Given the description of an element on the screen output the (x, y) to click on. 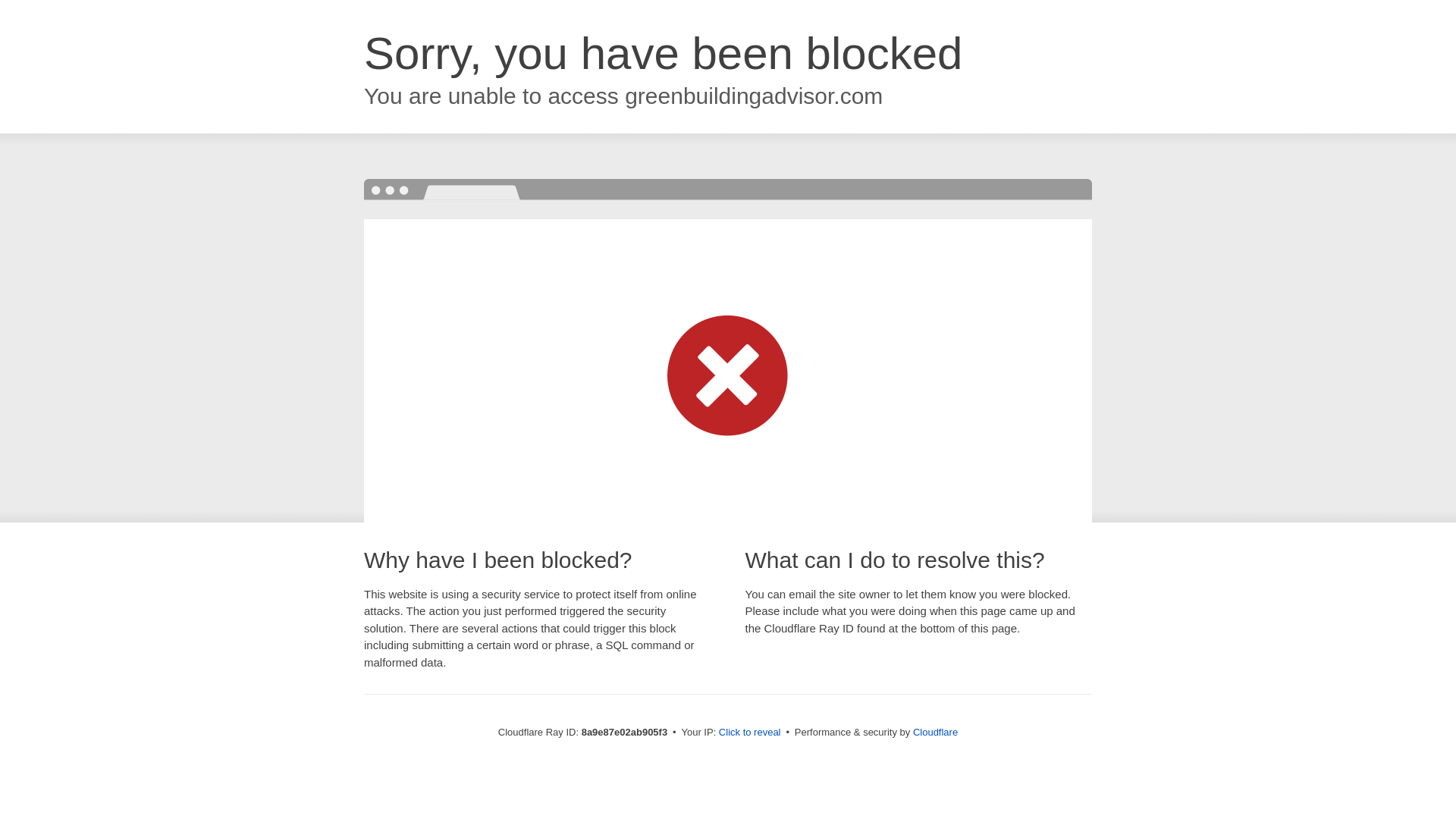
Click to reveal (749, 732)
Cloudflare (935, 731)
